Given the description of an element on the screen output the (x, y) to click on. 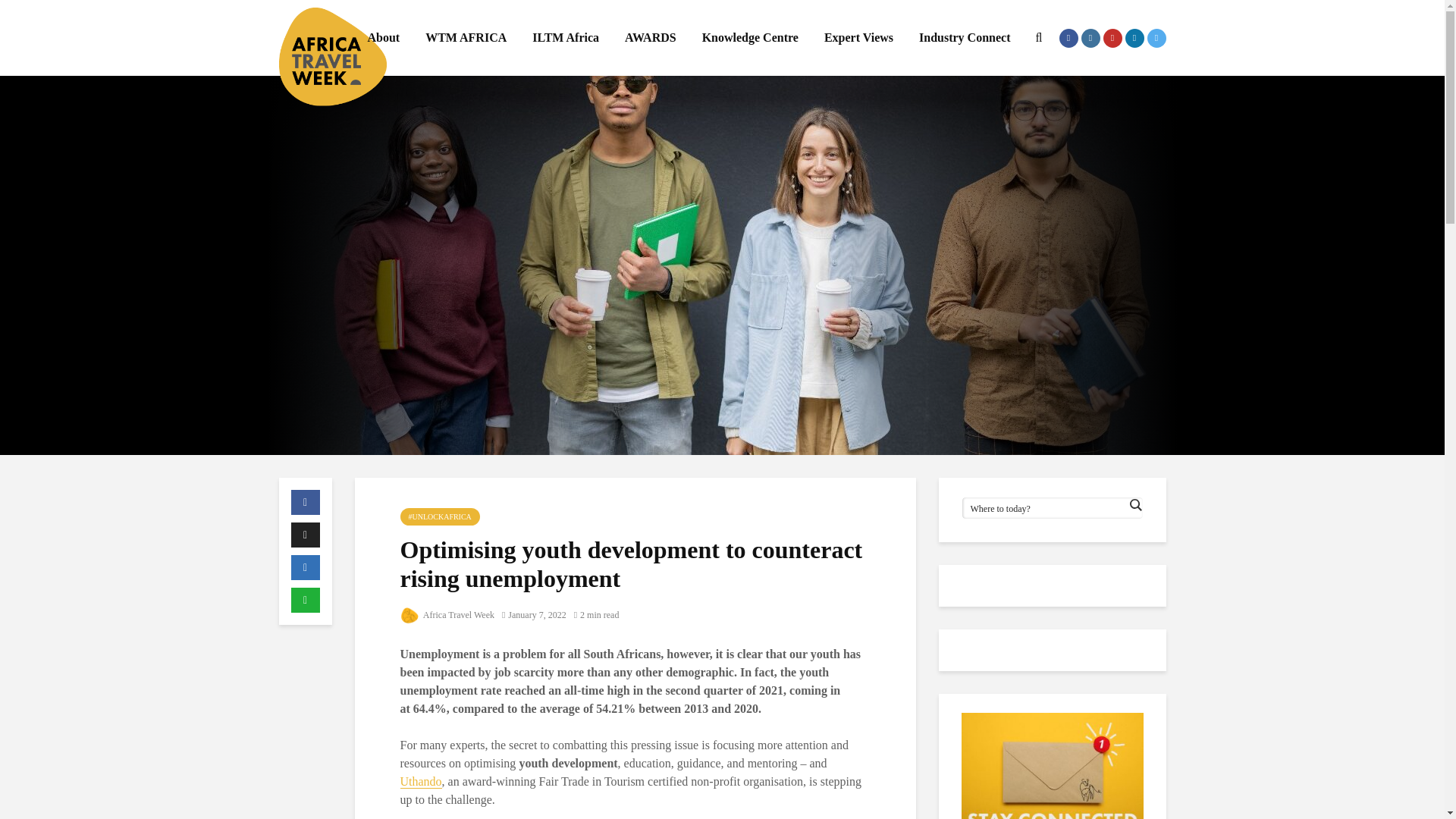
WTM AFRICA (465, 37)
About (382, 37)
Knowledge Centre (749, 37)
ILTM Africa (565, 37)
Expert Views (858, 37)
AWARDS (649, 37)
